Given the description of an element on the screen output the (x, y) to click on. 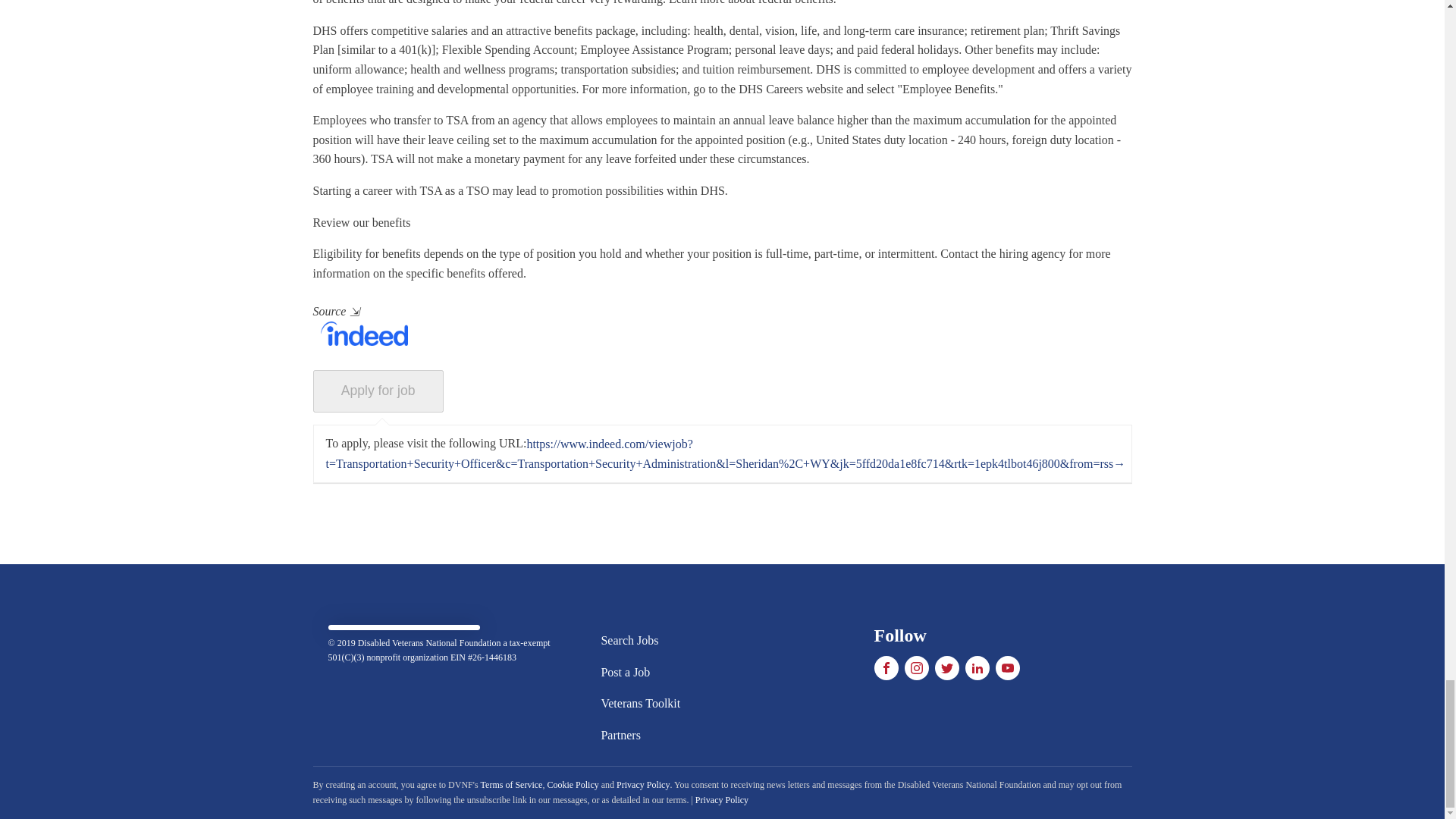
Terms of Service (511, 784)
Post a Job (639, 672)
Search Jobs (639, 640)
Partners (639, 735)
Apply for job (377, 391)
Veterans Toolkit (639, 703)
